Given the description of an element on the screen output the (x, y) to click on. 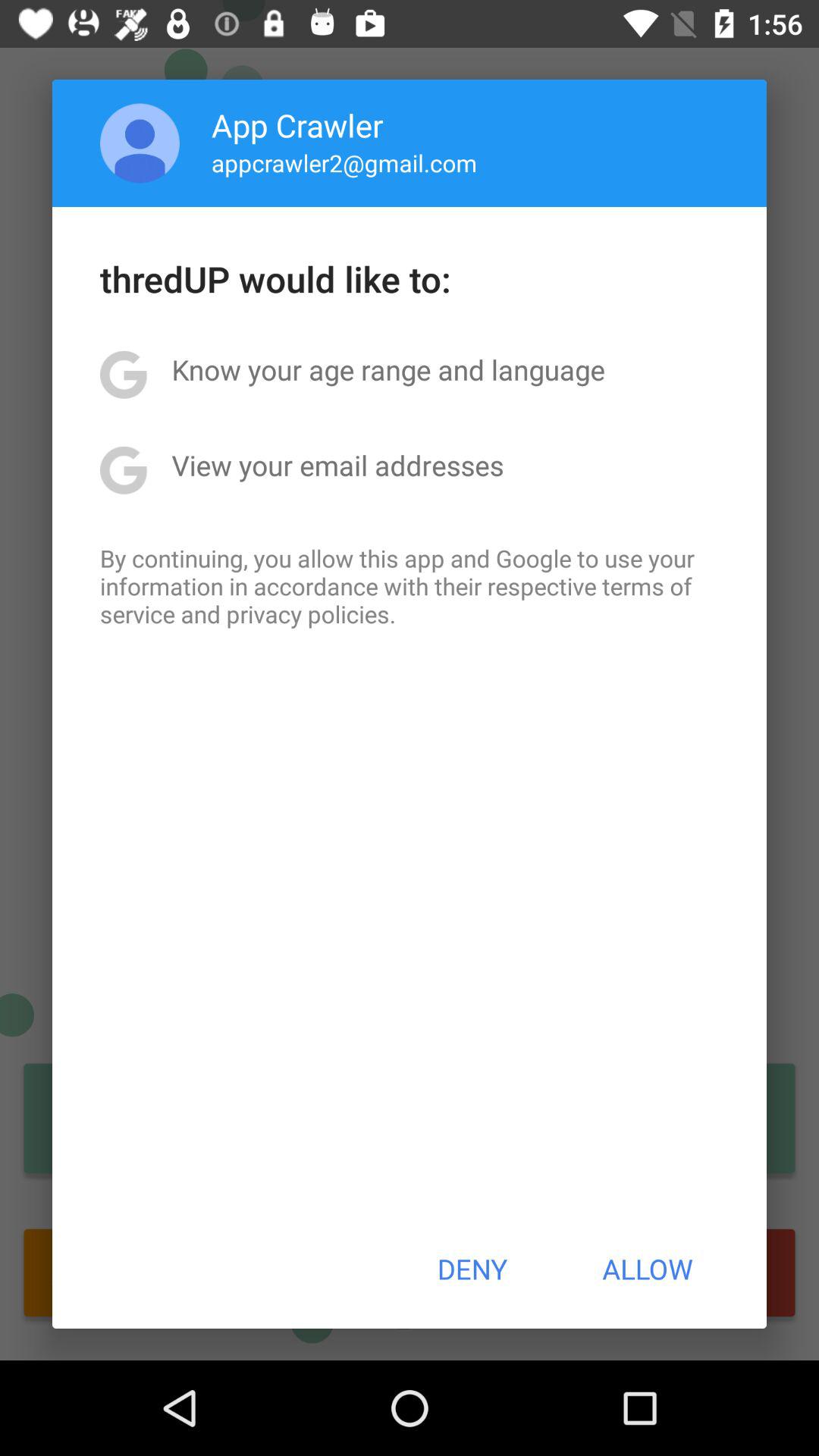
click the item next to the app crawler app (139, 143)
